Given the description of an element on the screen output the (x, y) to click on. 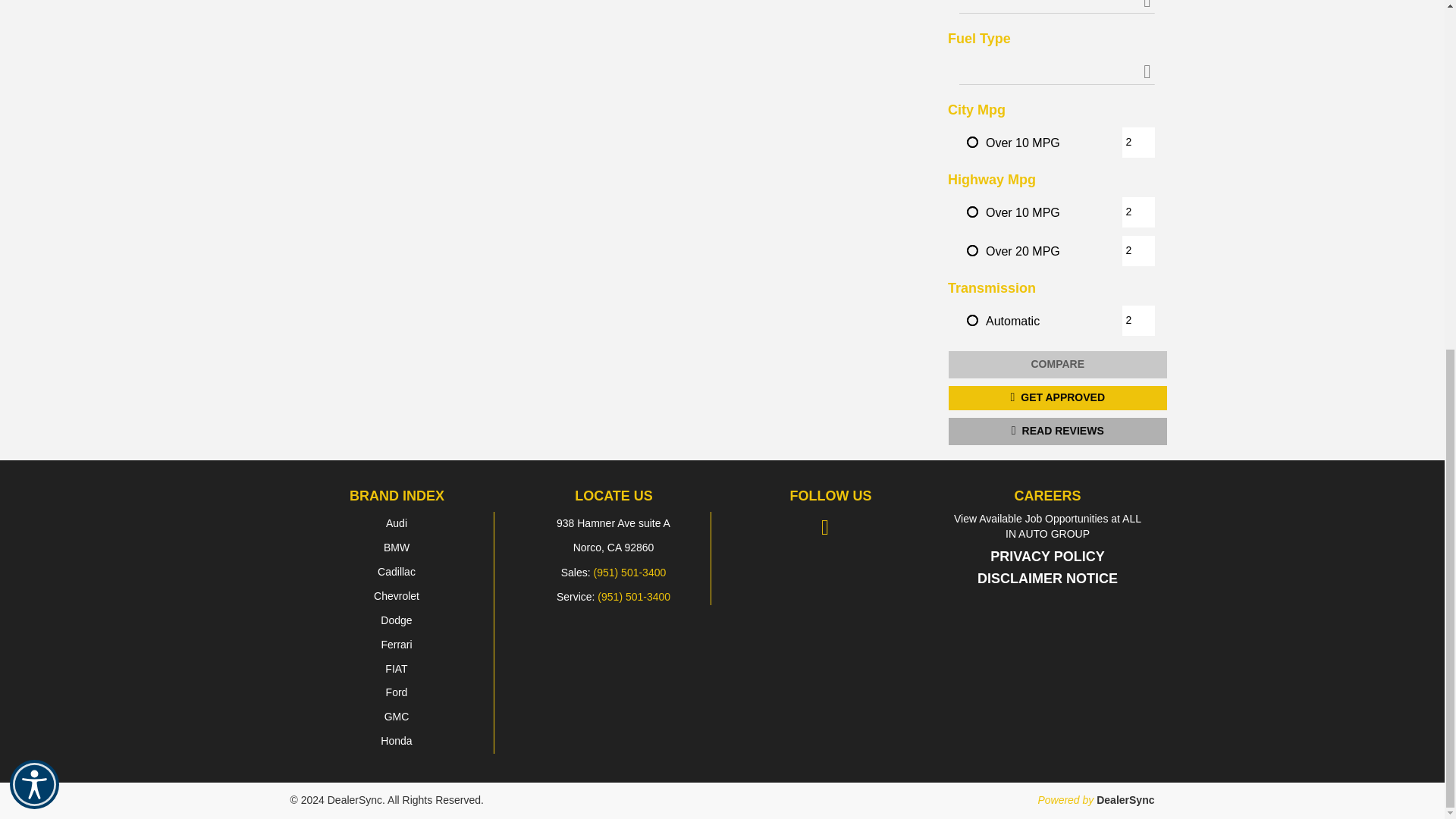
Facebook (828, 526)
